Given the description of an element on the screen output the (x, y) to click on. 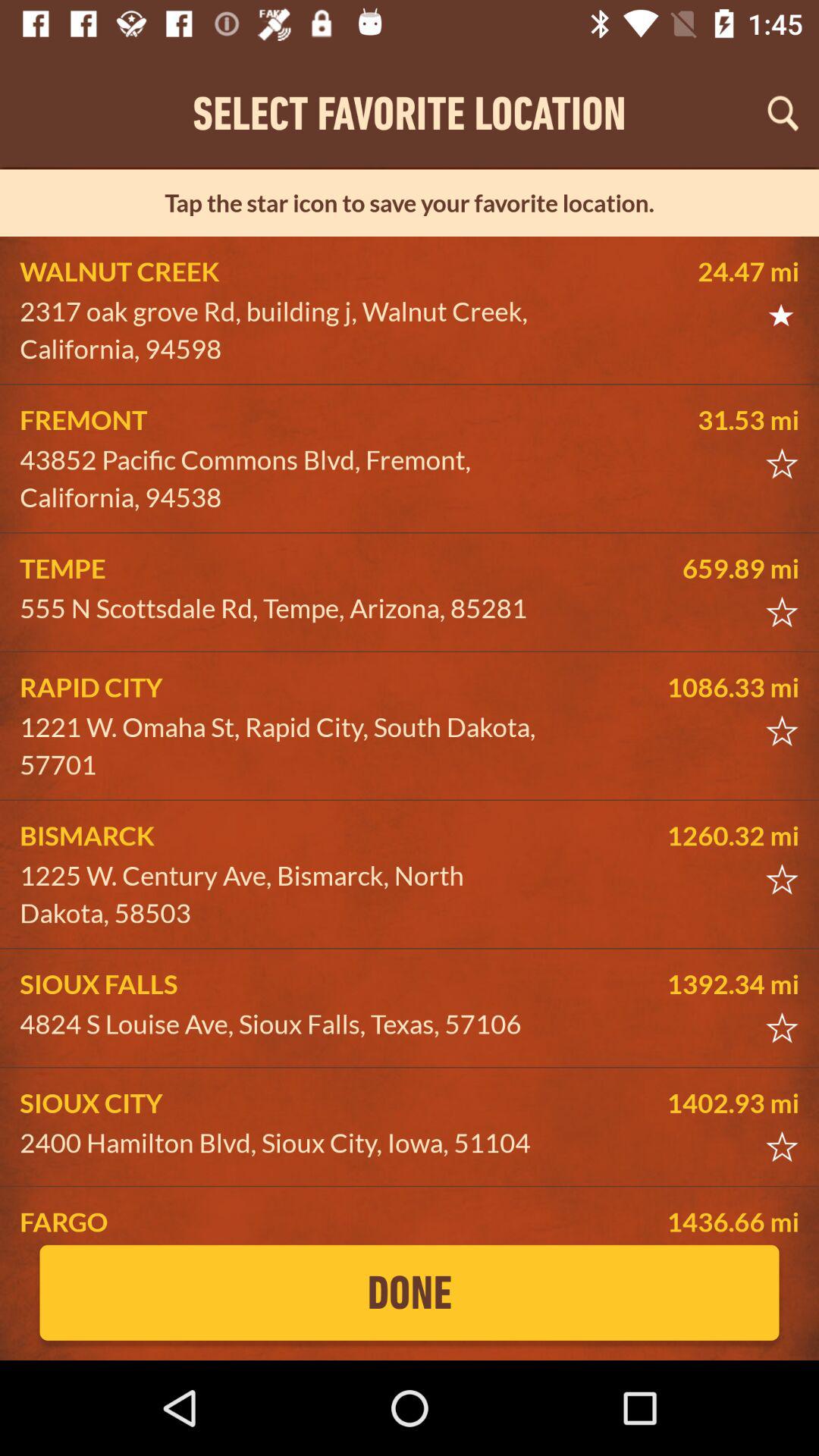
search location (783, 112)
